Given the description of an element on the screen output the (x, y) to click on. 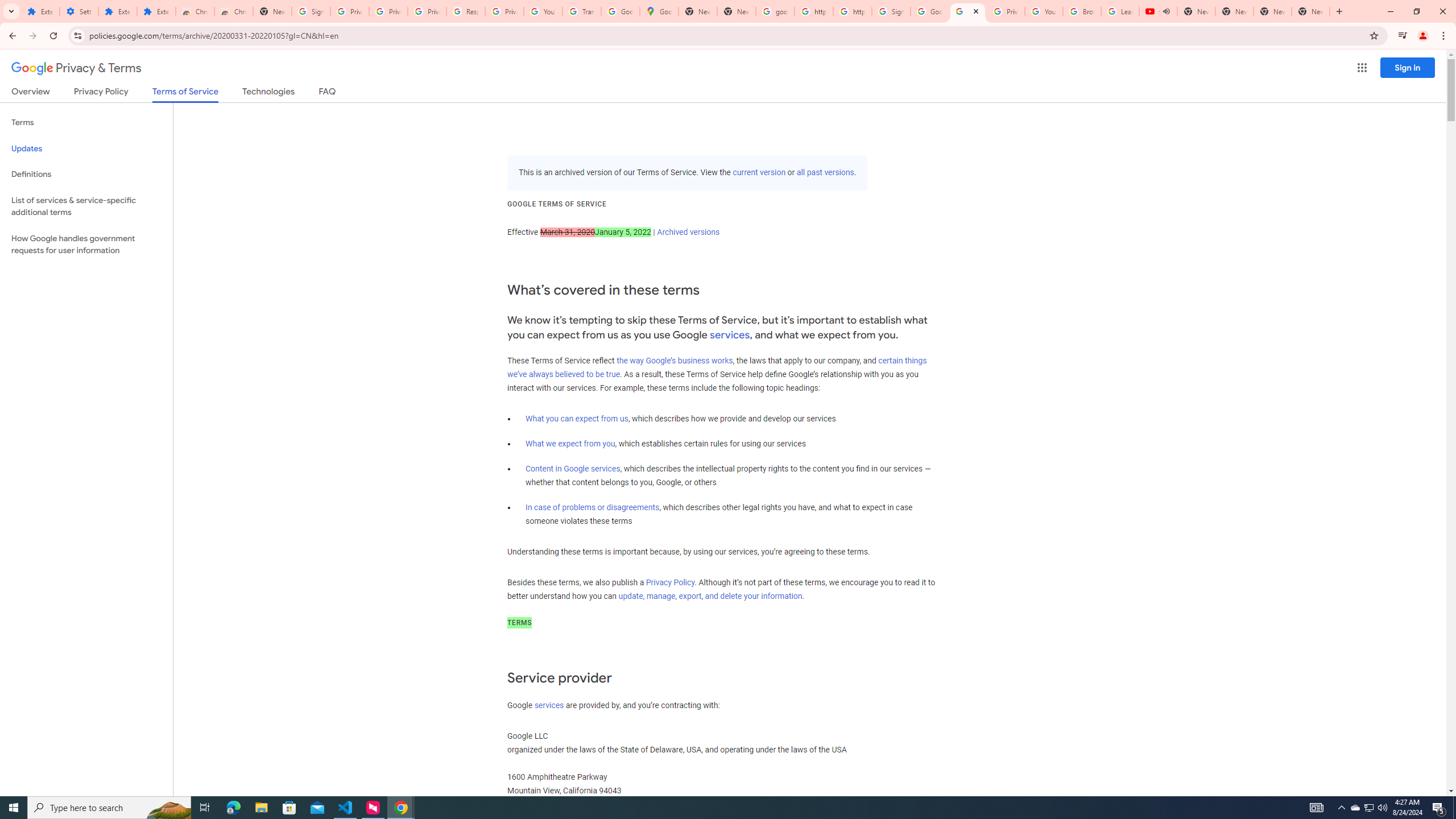
YouTube (1043, 11)
How Google handles government requests for user information (86, 244)
Extensions (40, 11)
Extensions (156, 11)
Sign in - Google Accounts (890, 11)
